Given the description of an element on the screen output the (x, y) to click on. 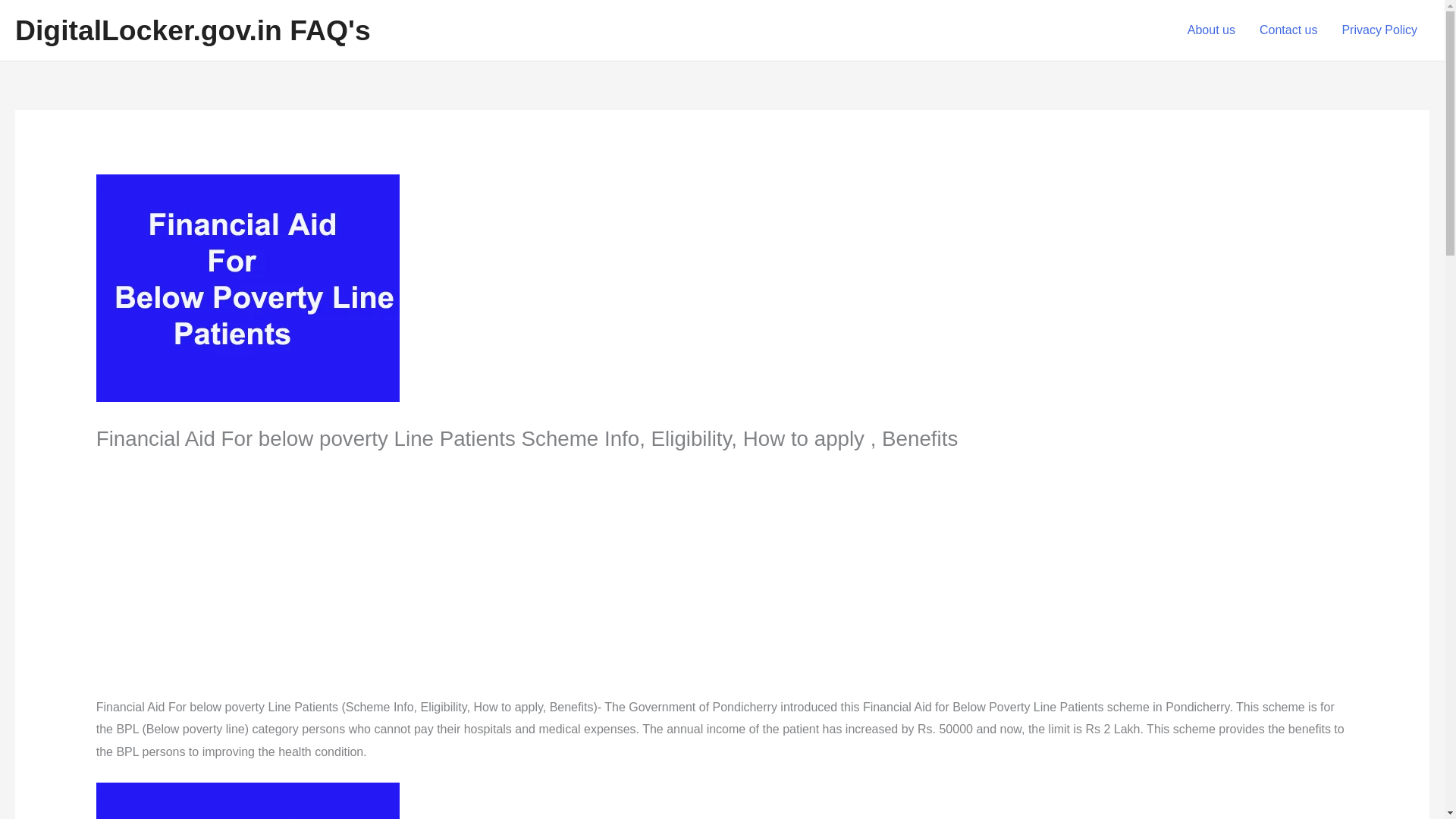
Privacy Policy (1379, 30)
Contact us (1288, 30)
About us (1210, 30)
DigitalLocker.gov.in FAQ's (192, 29)
